Given the description of an element on the screen output the (x, y) to click on. 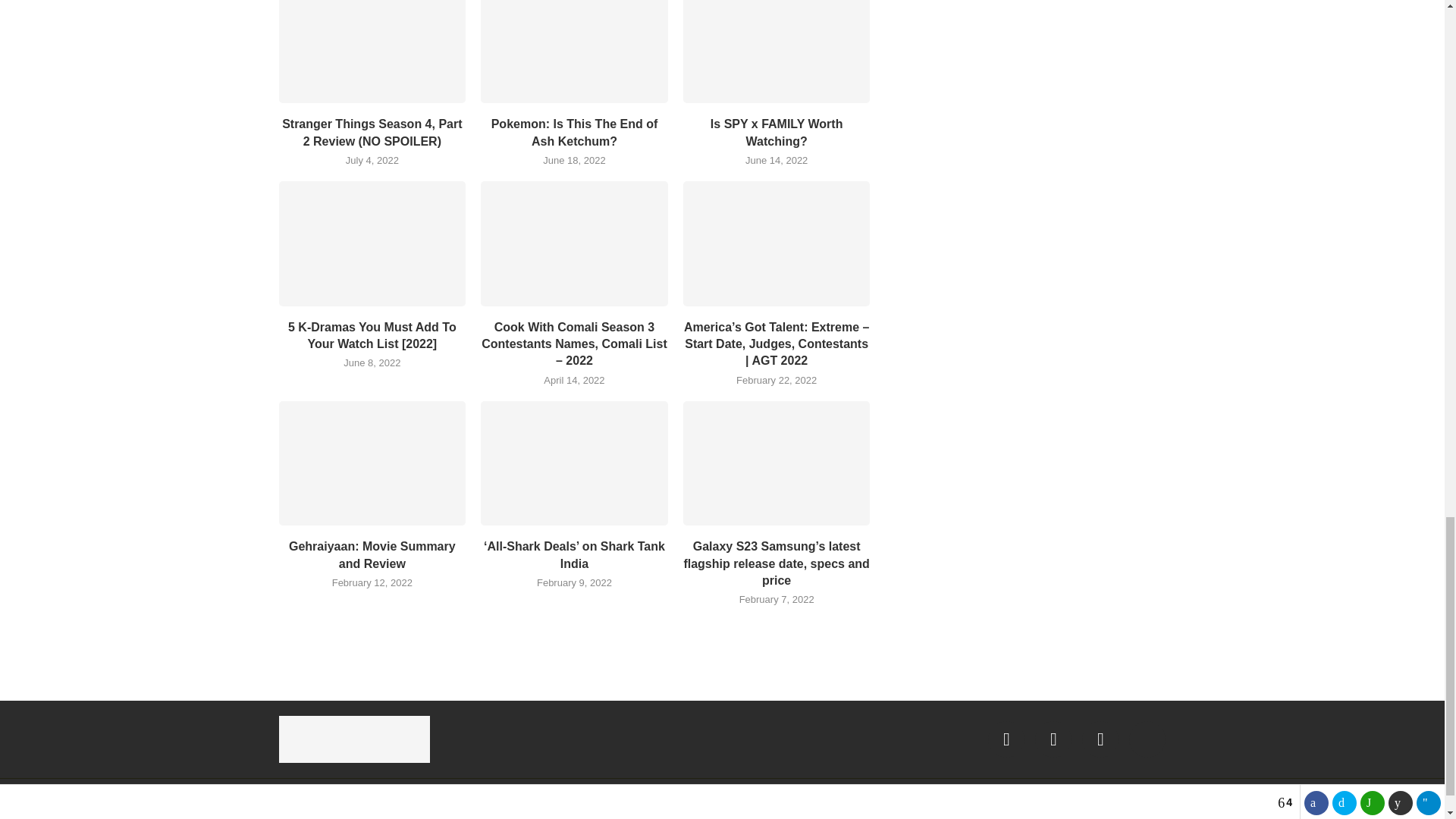
Is SPY x FAMILY Worth Watching? (776, 51)
Gehraiyaan: Movie Summary and Review (372, 463)
Pokemon: Is This The End of Ash Ketchum? (574, 51)
